Given the description of an element on the screen output the (x, y) to click on. 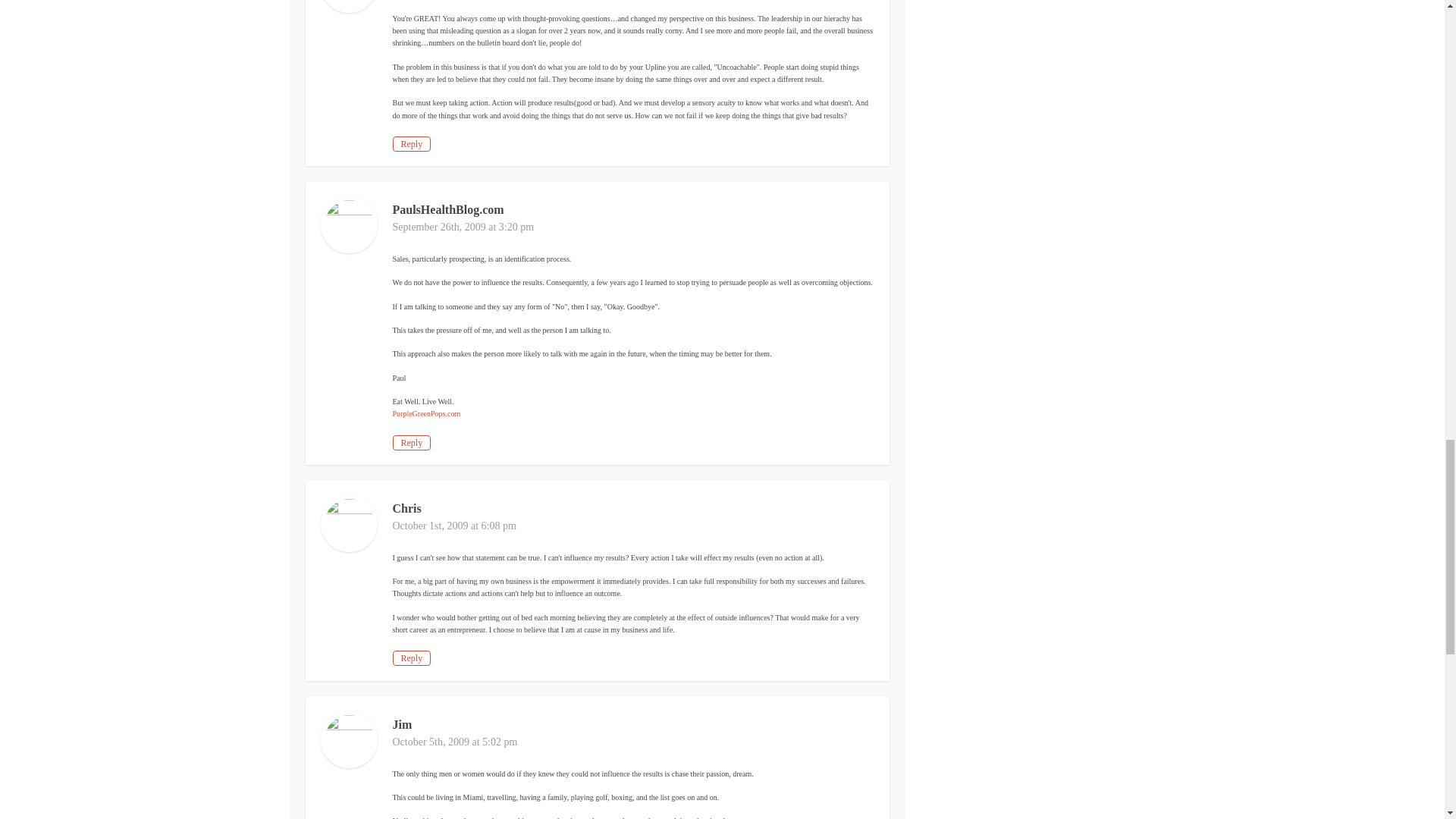
PurpleGreenPops.com (427, 413)
Reply (411, 442)
September 26th, 2009 at 3:20 pm (463, 226)
Reply (411, 143)
